Given the description of an element on the screen output the (x, y) to click on. 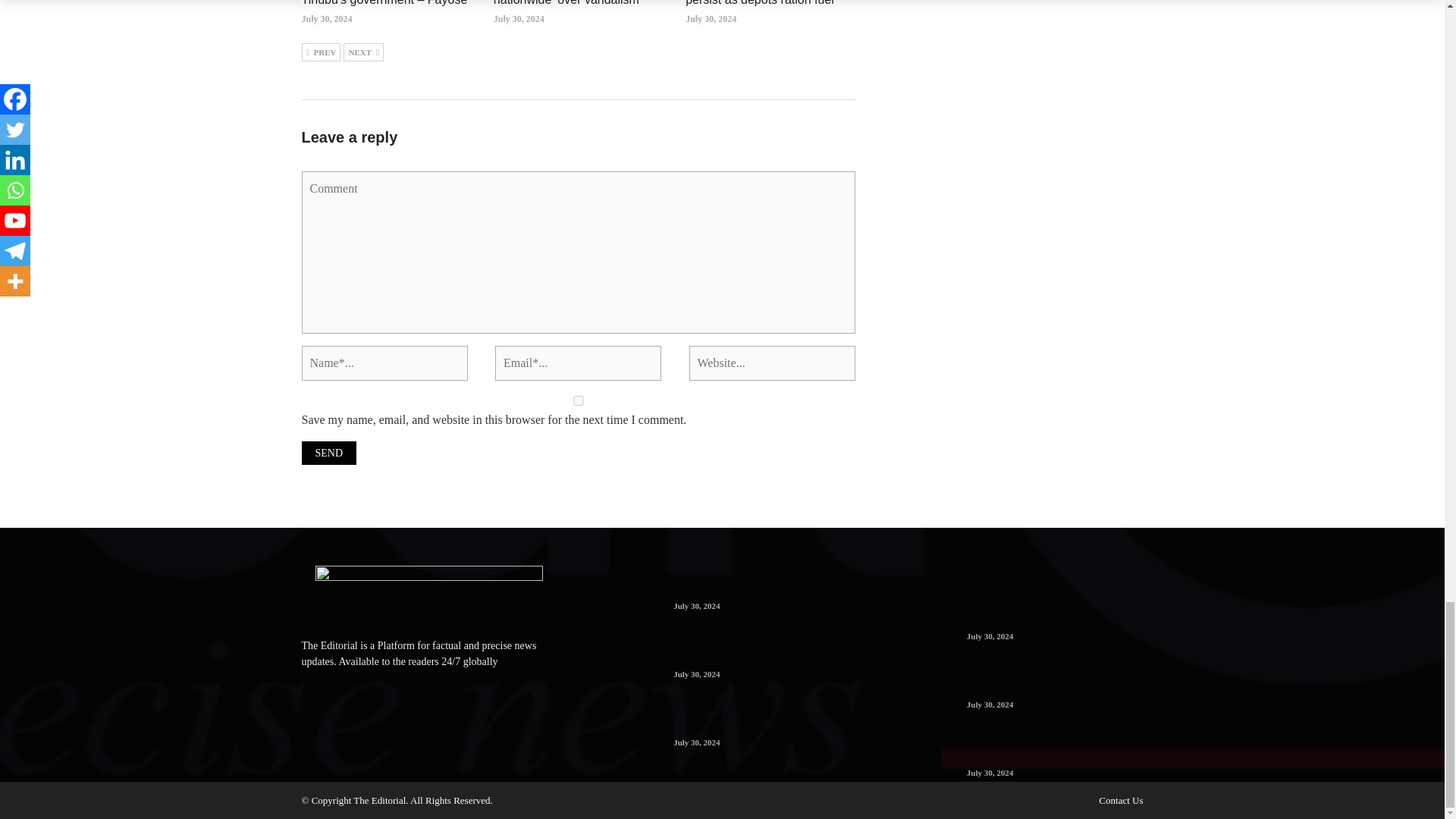
Send (328, 453)
yes (578, 400)
